Given the description of an element on the screen output the (x, y) to click on. 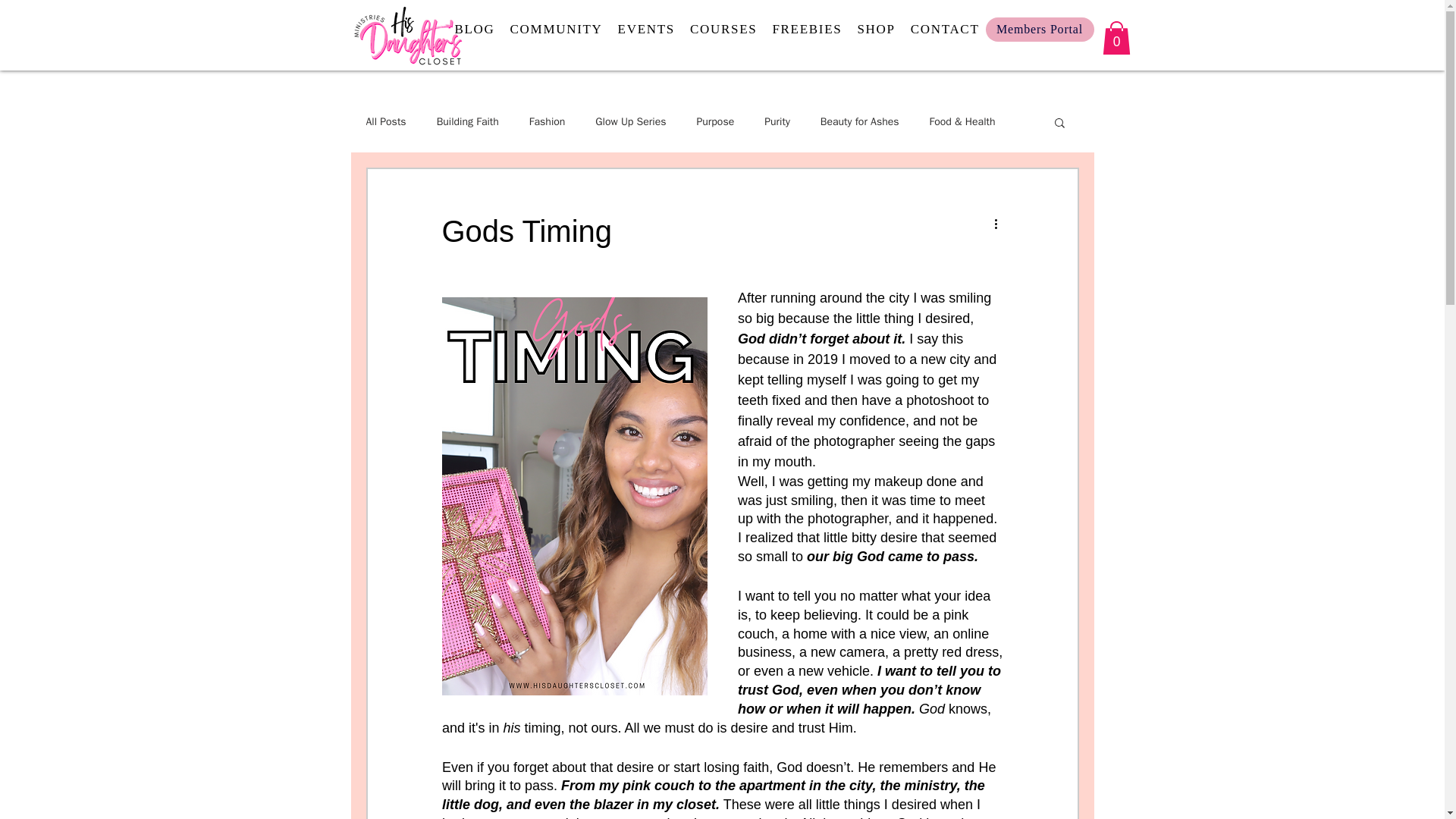
Glow Up Series (630, 121)
All Posts (385, 121)
Purity (777, 121)
Building Faith (467, 121)
BLOG (474, 29)
Fashion (547, 121)
COURSES (678, 29)
Purpose (723, 29)
CONTACT (714, 121)
COMMUNITY (944, 29)
EVENTS (556, 29)
SHOP (646, 29)
FREEBIES (876, 29)
Beauty for Ashes (806, 29)
